Given the description of an element on the screen output the (x, y) to click on. 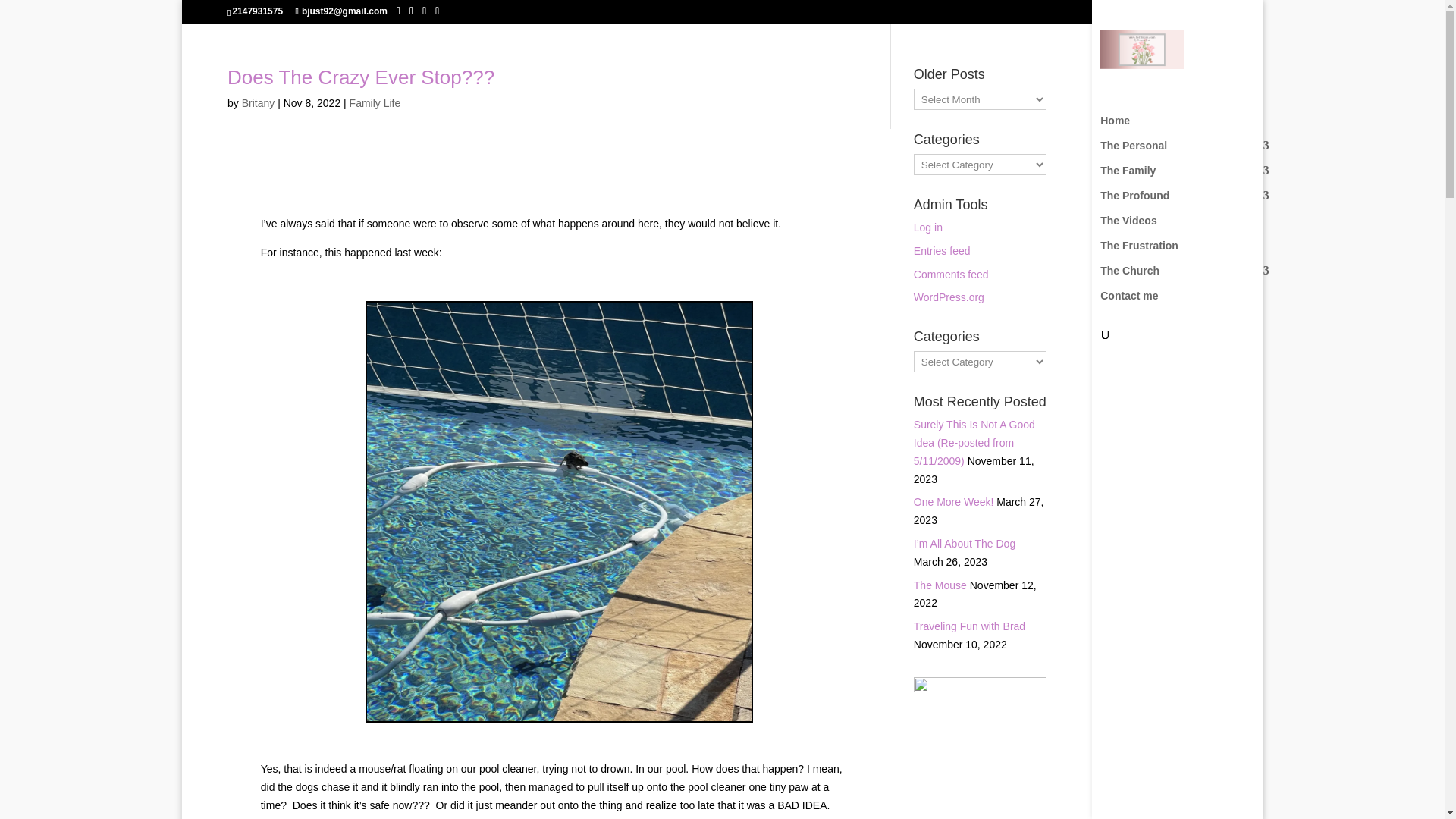
Posts by Britany (258, 102)
The Family (1192, 177)
Home (1192, 127)
The Profound (1192, 202)
The Personal (1192, 152)
